Given the description of an element on the screen output the (x, y) to click on. 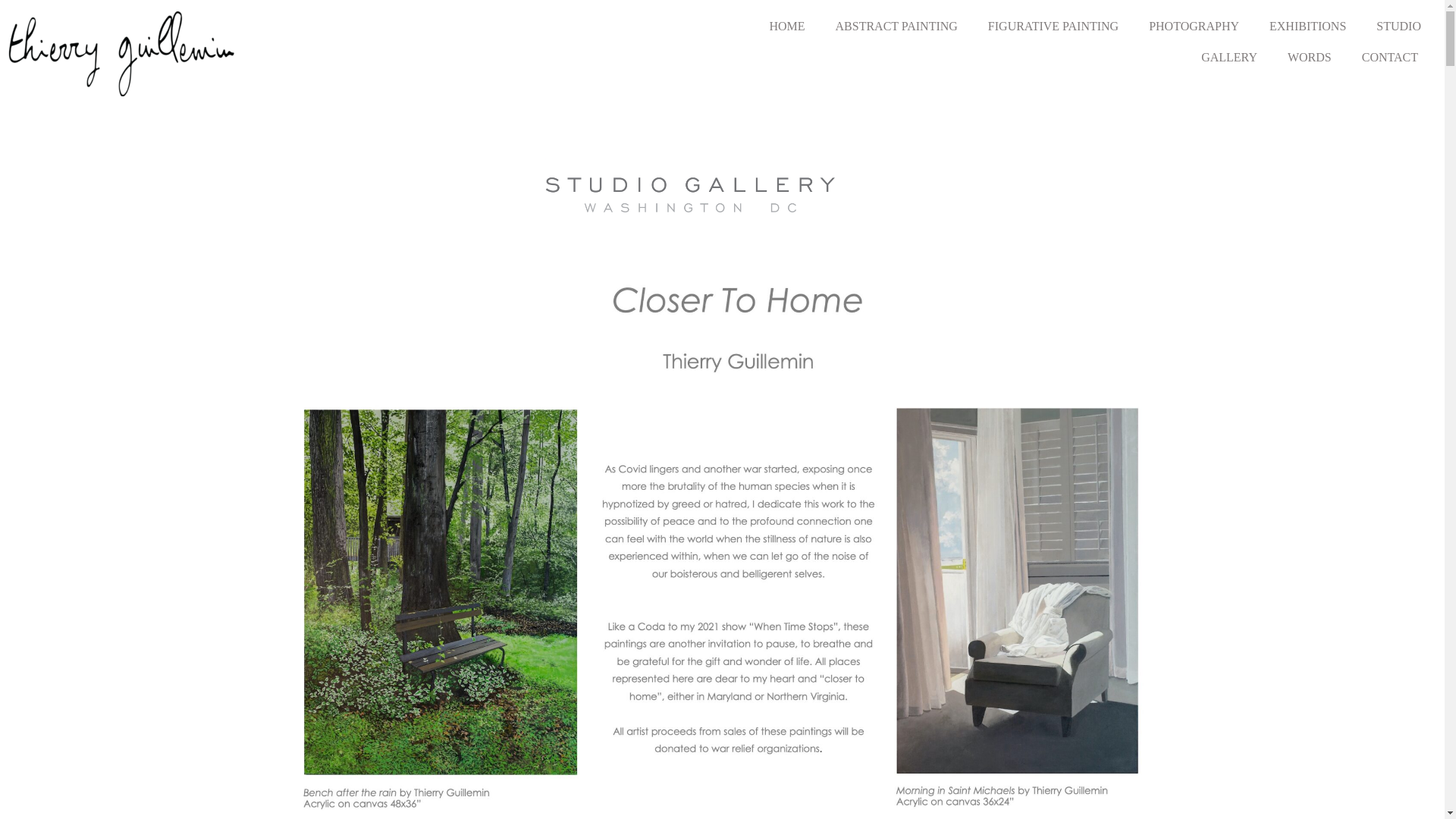
GALLERY (1229, 57)
FIGURATIVE PAINTING (1053, 26)
PHOTOGRAPHY (1193, 26)
CONTACT (1389, 57)
ABSTRACT PAINTING (896, 26)
STUDIO (1398, 26)
EXHIBITIONS (1307, 26)
signature-fixed-01 (120, 53)
